Given the description of an element on the screen output the (x, y) to click on. 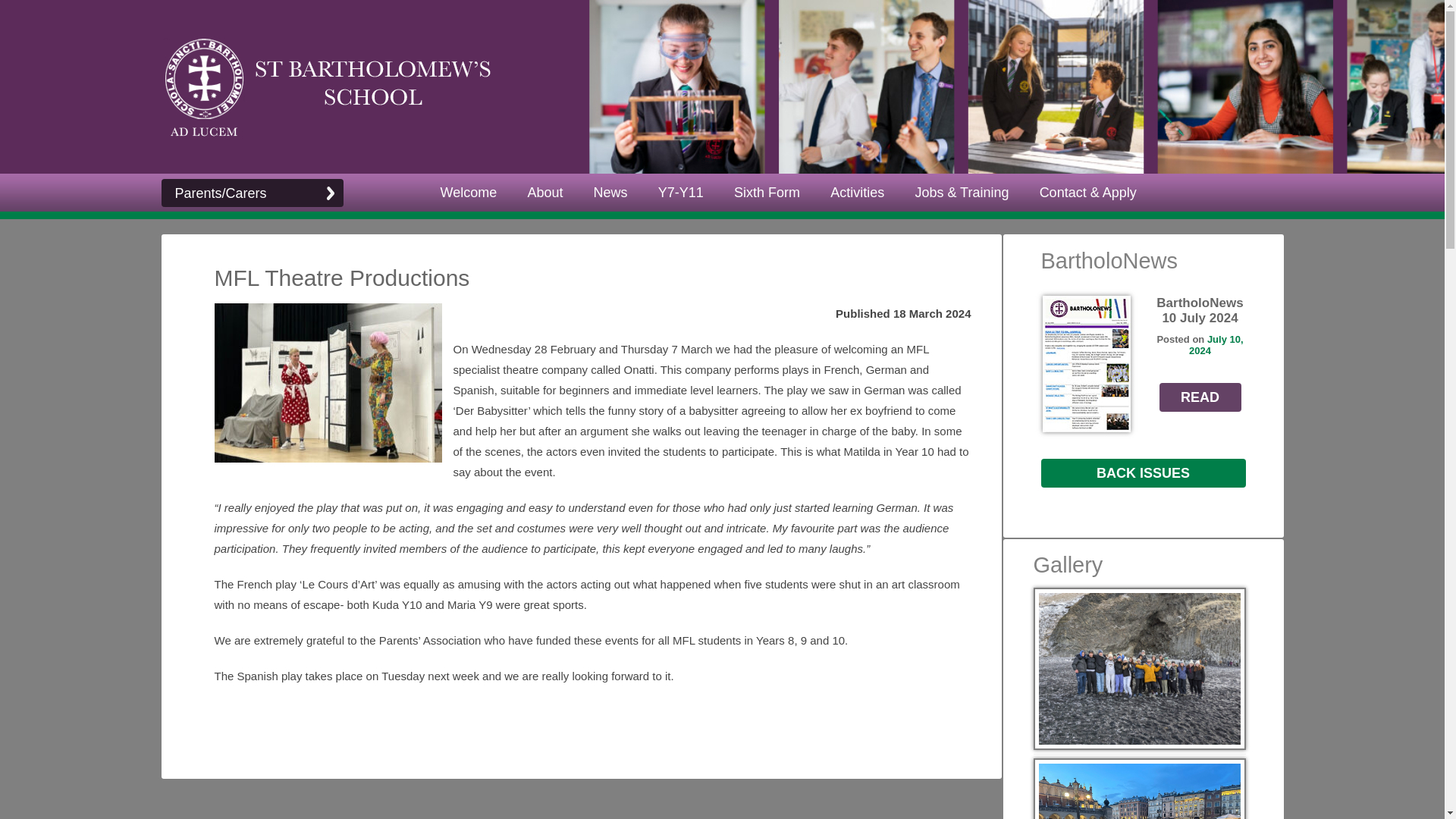
Welcome (468, 192)
Y7-Y11 (681, 192)
News (610, 192)
Sixth Form (766, 192)
About (544, 192)
